Given the description of an element on the screen output the (x, y) to click on. 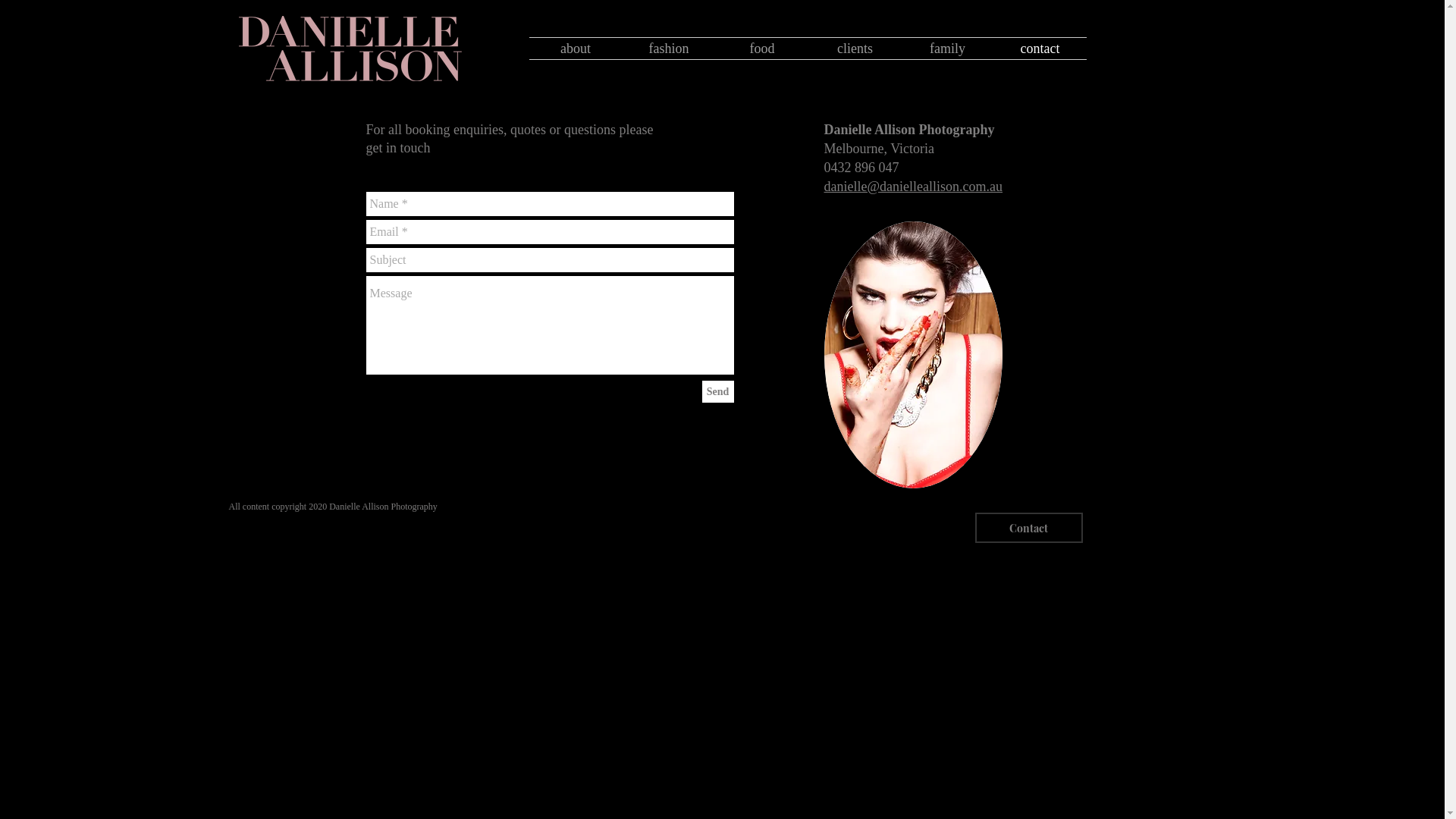
fashion Element type: text (668, 48)
clients Element type: text (854, 48)
about Element type: text (575, 48)
Contact Element type: text (1028, 527)
0432 896 047 Element type: text (860, 167)
Send Element type: text (718, 391)
contact Element type: text (1039, 48)
family Element type: text (946, 48)
food Element type: text (762, 48)
danielle@danielleallison.com.au Element type: text (912, 185)
